Given the description of an element on the screen output the (x, y) to click on. 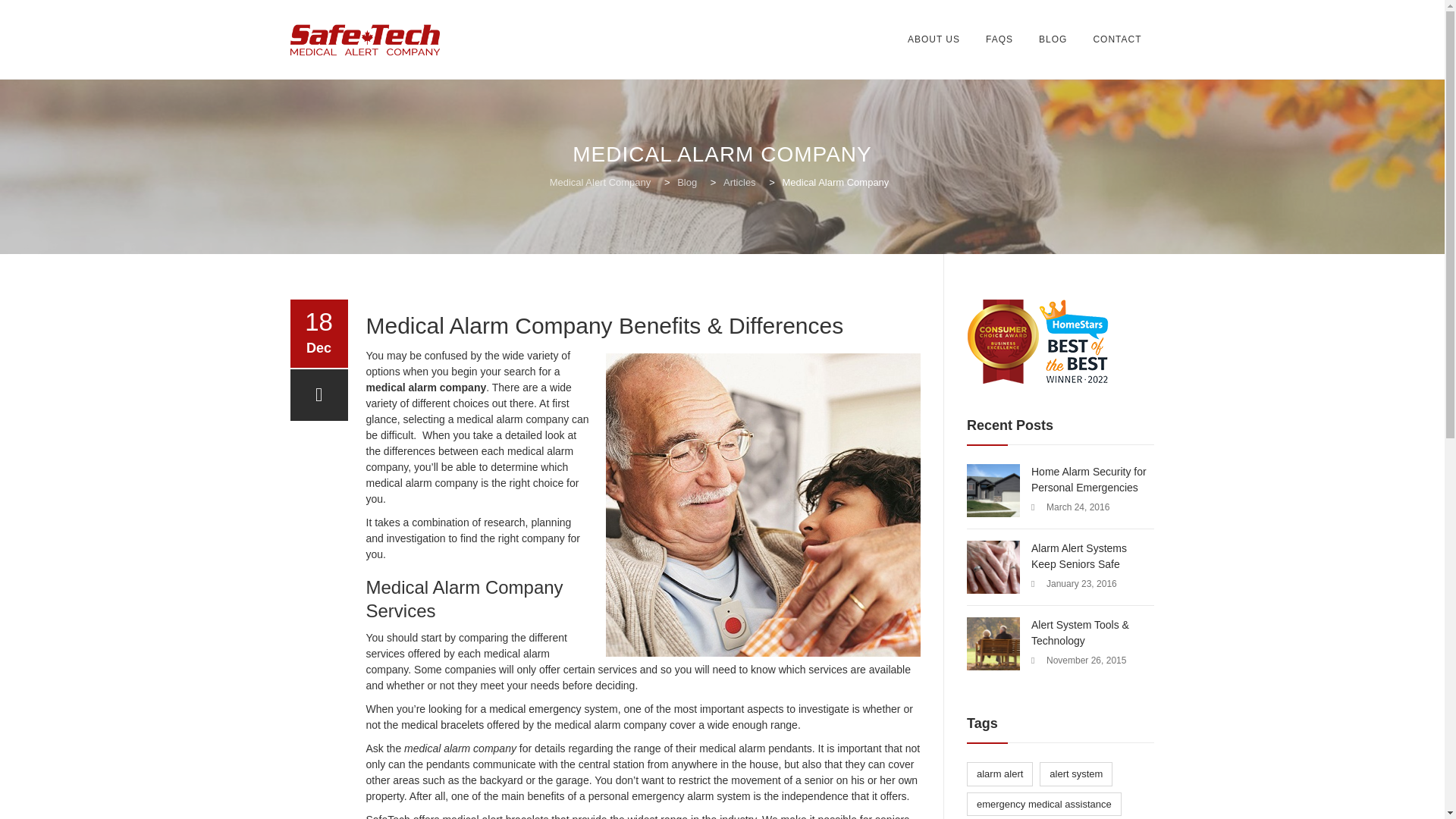
Articles (740, 182)
Go to Blog. (688, 182)
ABOUT US (933, 39)
Medical Emergency (534, 708)
alarm alert (999, 774)
Alarm Alert Systems Keep Seniors Safe (1060, 556)
Medical Alert Company (364, 39)
Home Alarm Security for Personal Emergencies (1060, 480)
medical bracelets (442, 725)
Medical Alert Company (601, 182)
